Given the description of an element on the screen output the (x, y) to click on. 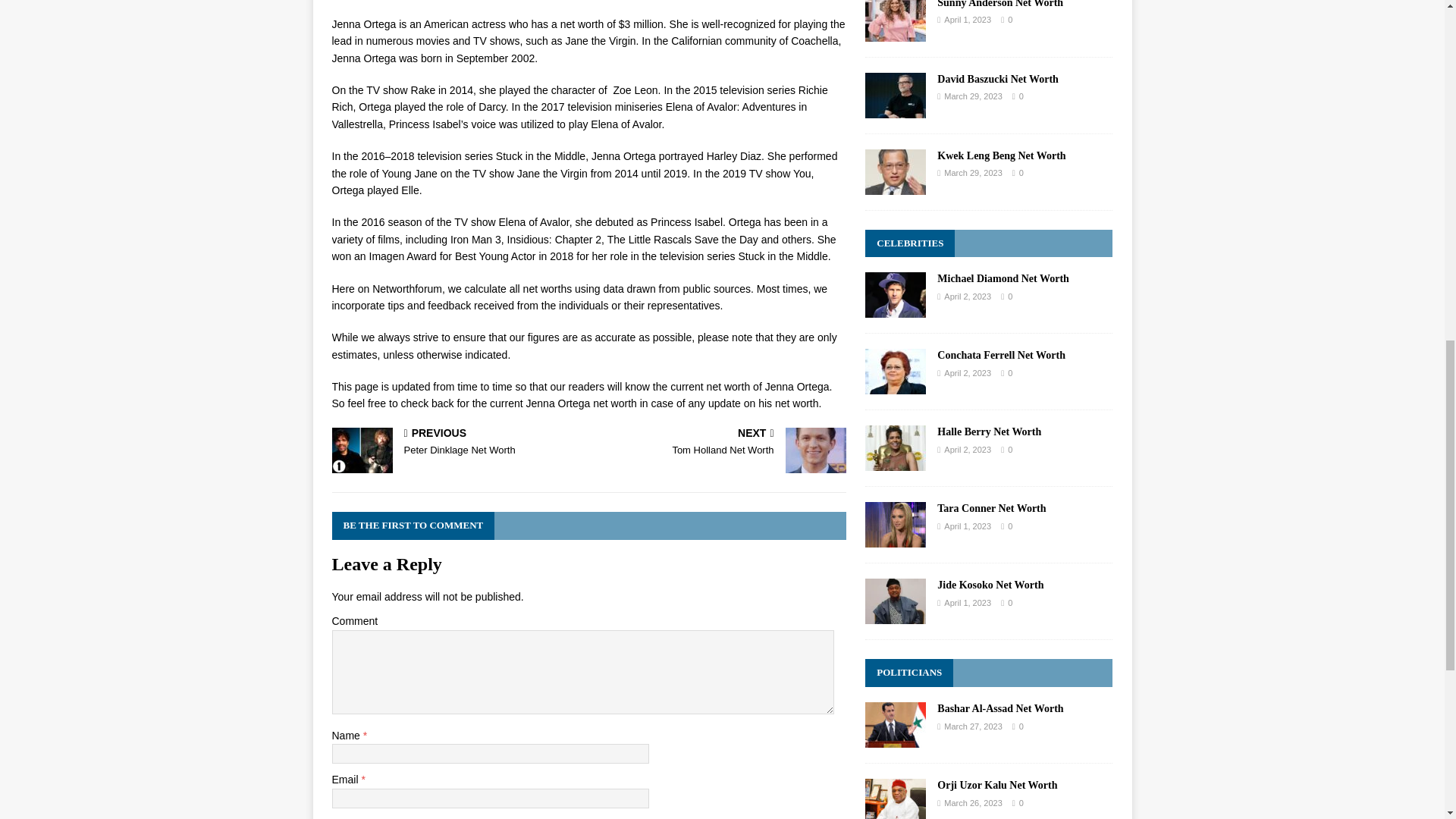
Sunny Anderson Net Worth (457, 442)
